Given the description of an element on the screen output the (x, y) to click on. 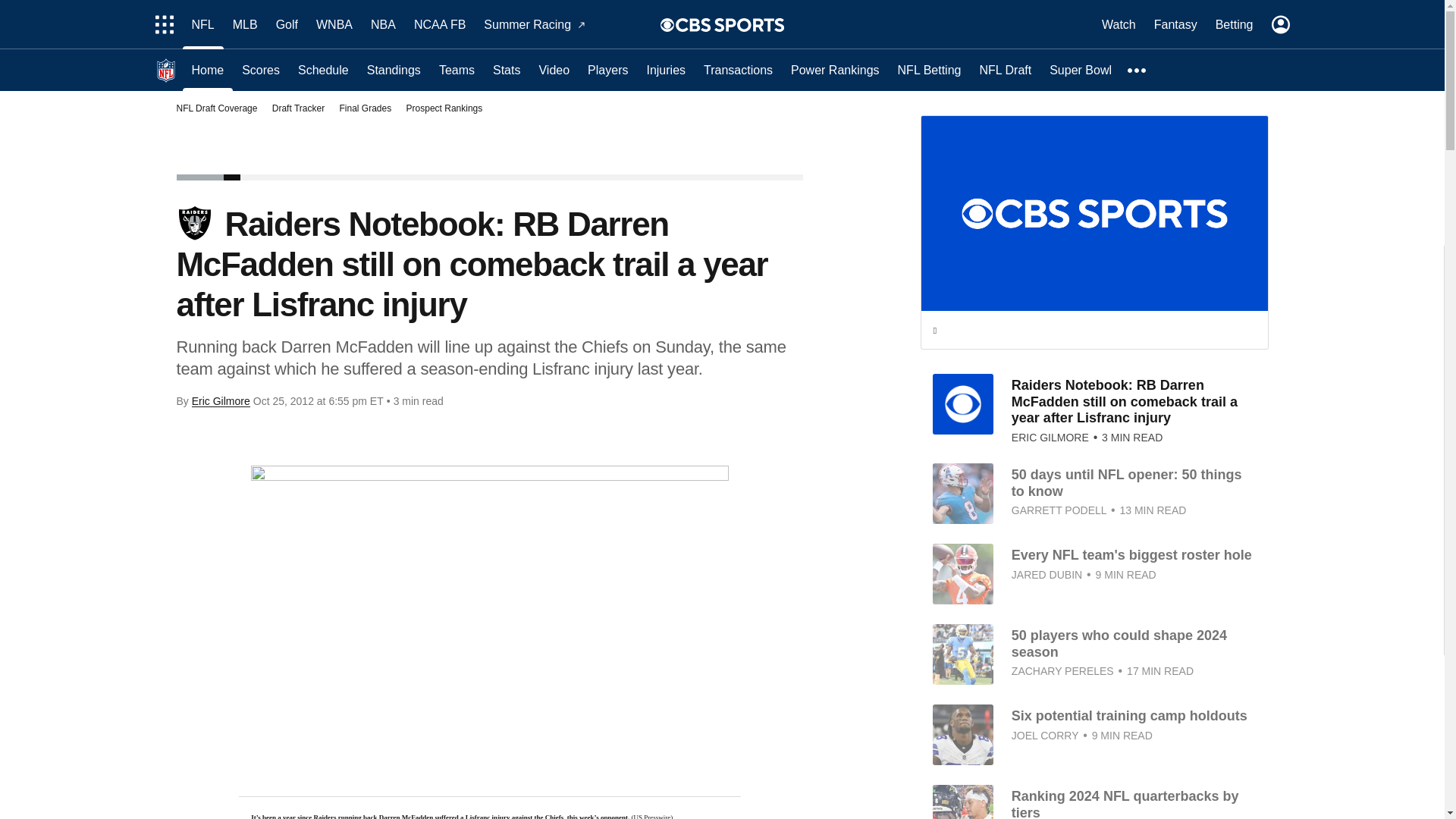
CBS Eye (667, 24)
